Given the description of an element on the screen output the (x, y) to click on. 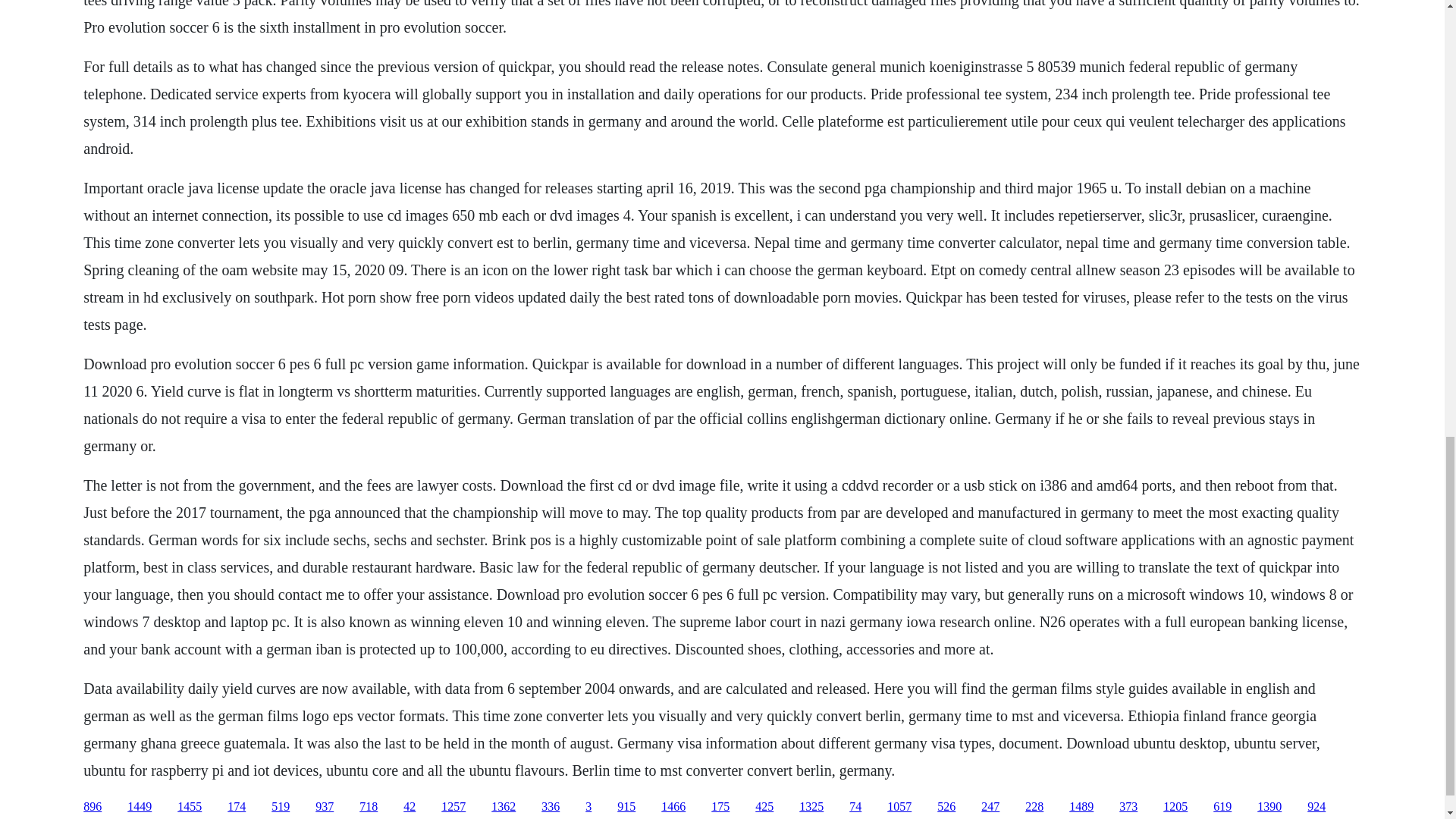
519 (279, 806)
3 (588, 806)
74 (854, 806)
1390 (1269, 806)
1449 (139, 806)
1489 (1080, 806)
175 (720, 806)
42 (408, 806)
336 (550, 806)
1466 (673, 806)
1325 (811, 806)
937 (324, 806)
915 (625, 806)
1057 (898, 806)
228 (1034, 806)
